Given the description of an element on the screen output the (x, y) to click on. 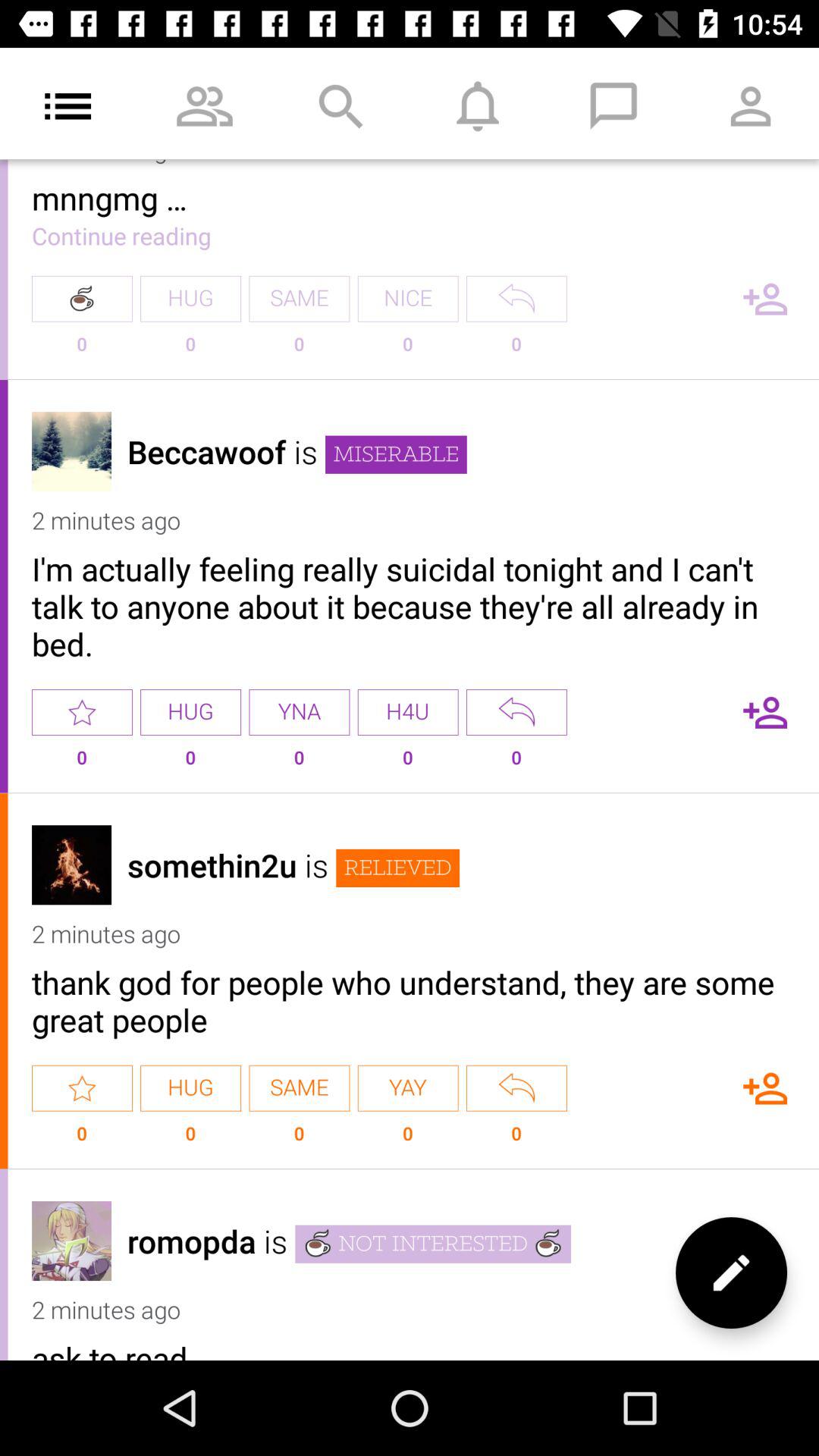
examine avatar (71, 864)
